Given the description of an element on the screen output the (x, y) to click on. 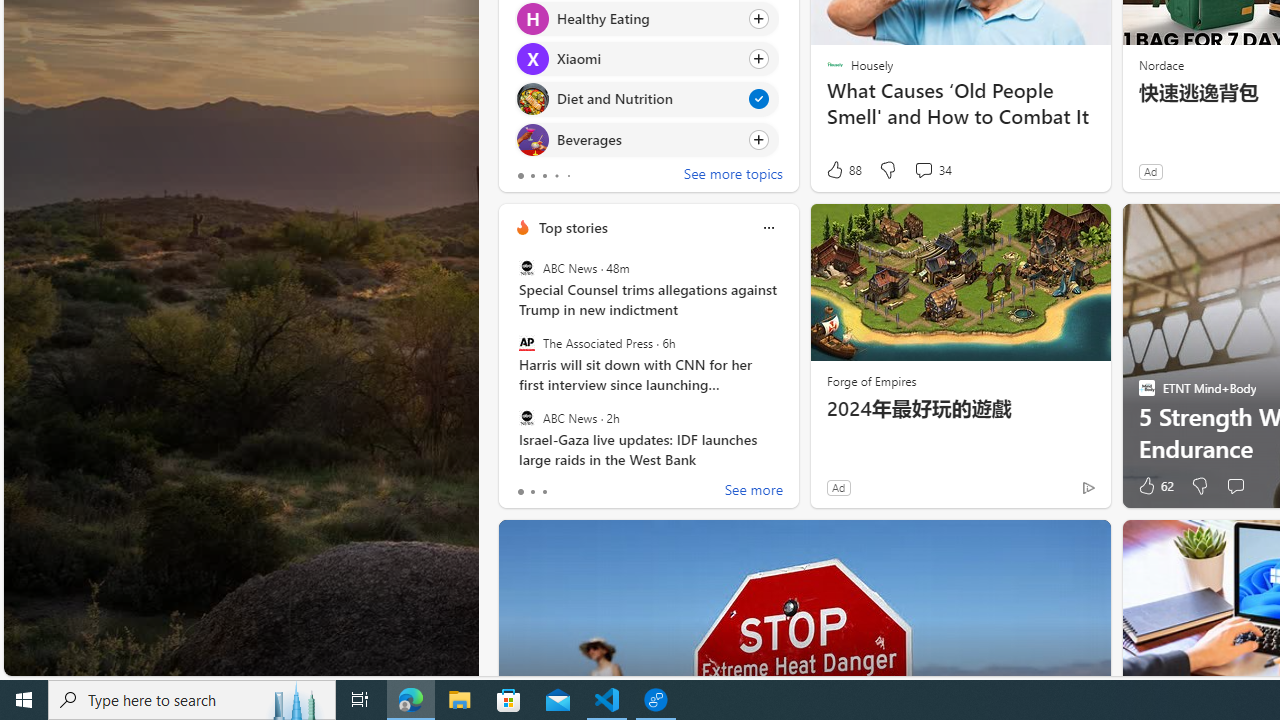
previous (508, 39)
Forge of Empires (870, 380)
tab-3 (556, 175)
